Given the description of an element on the screen output the (x, y) to click on. 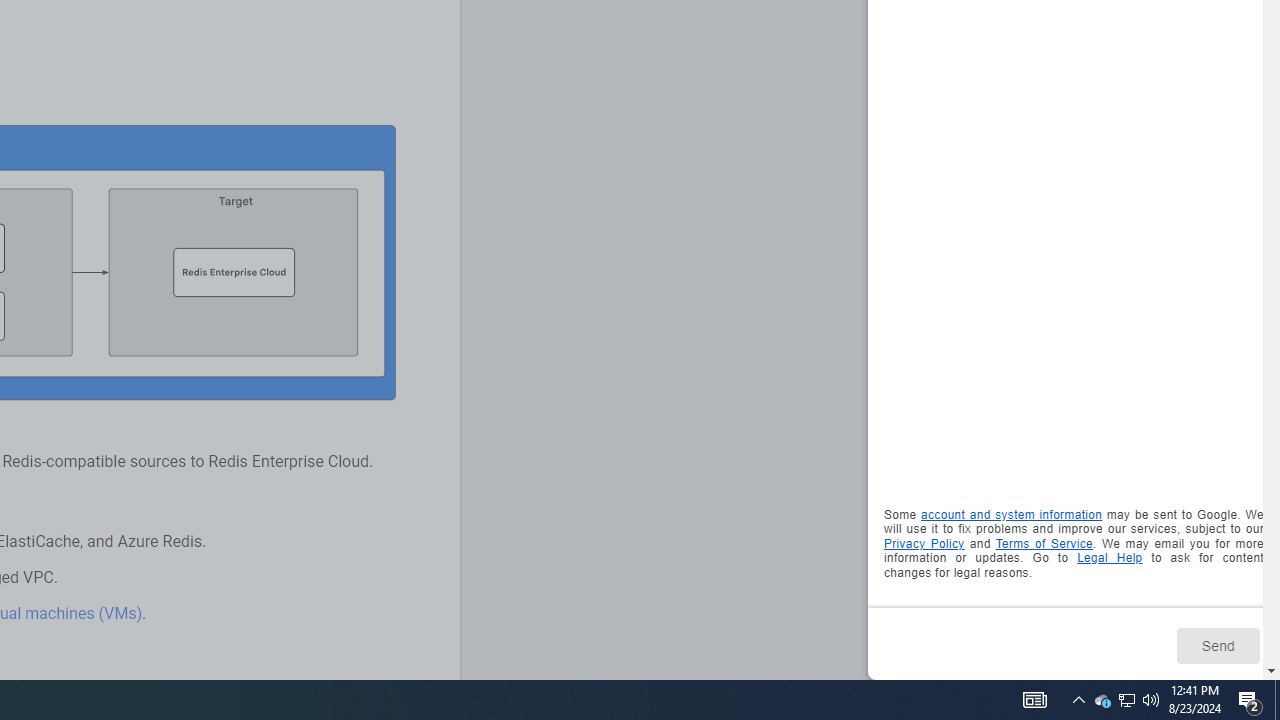
Opens in a new tab. Privacy Policy (924, 542)
Opens in a new tab. Terms of Service (1044, 542)
account and system information (1012, 515)
Opens in a new tab. Legal Help (1109, 557)
Send (1217, 645)
